Given the description of an element on the screen output the (x, y) to click on. 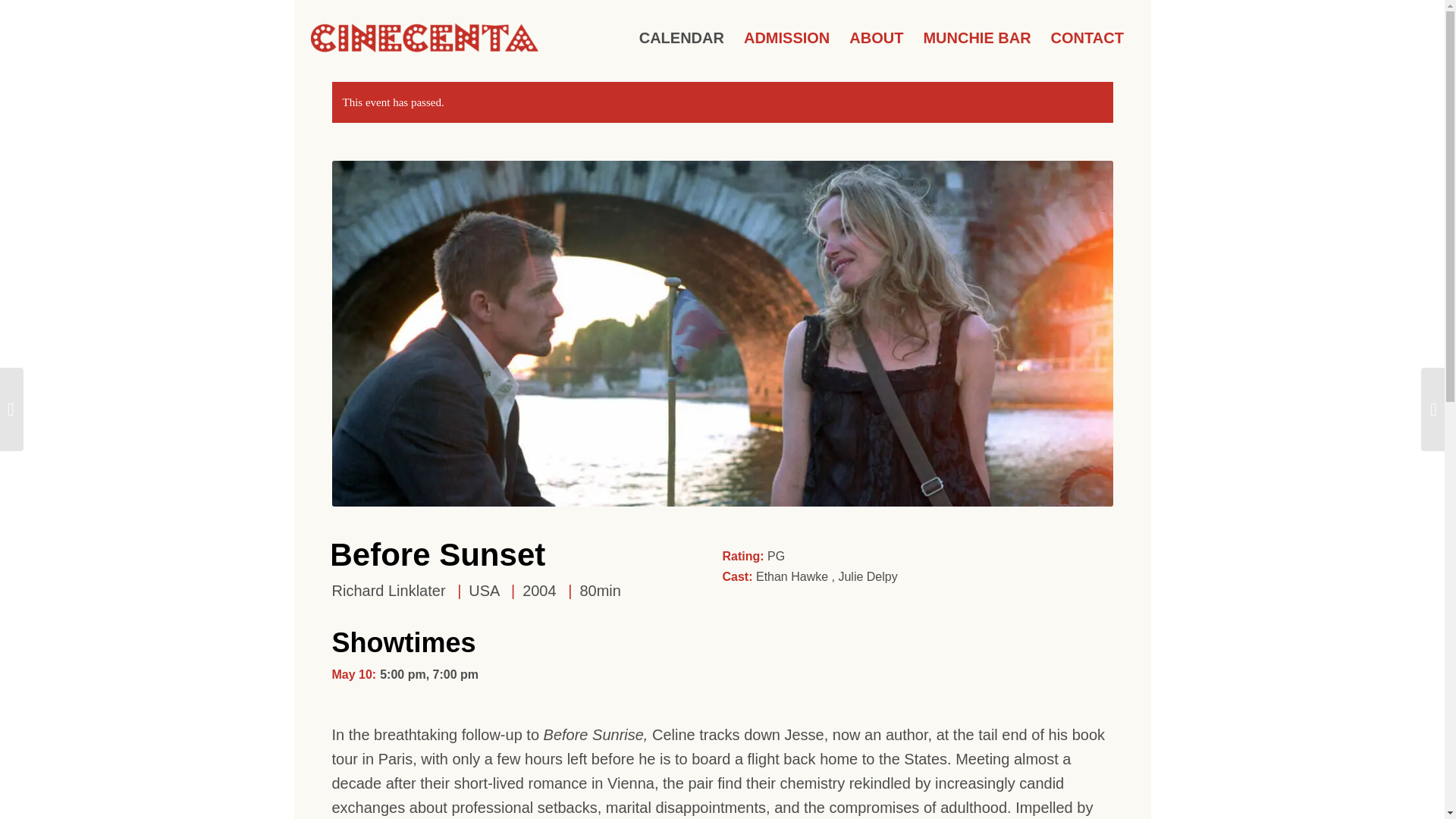
ADMISSION (786, 37)
CALENDAR (680, 37)
